Given the description of an element on the screen output the (x, y) to click on. 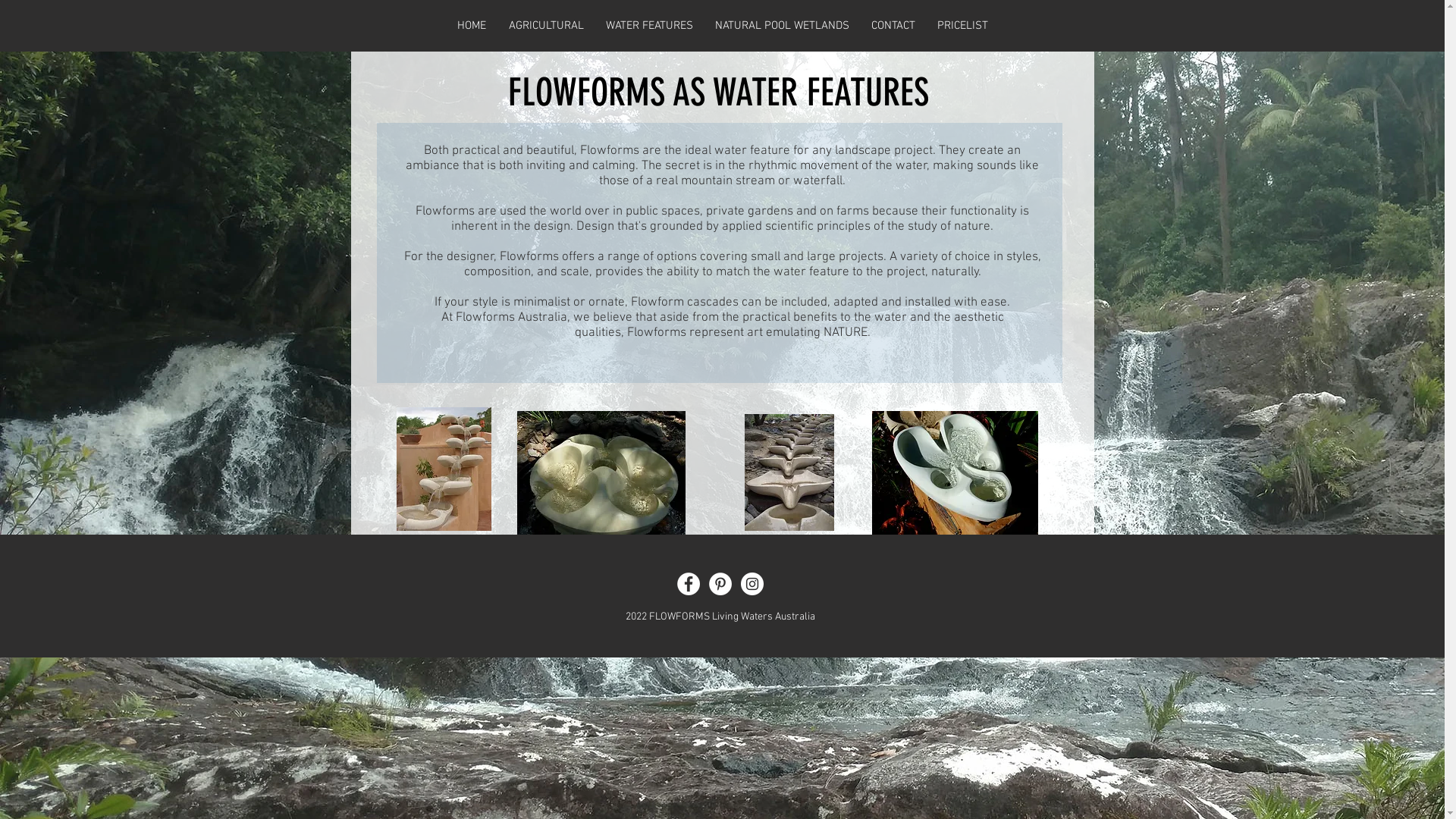
PRICELIST Element type: text (962, 25)
CONTACT Element type: text (892, 25)
HOME Element type: text (471, 25)
AGRICULTURAL Element type: text (546, 25)
NATURAL POOL WETLANDS Element type: text (781, 25)
WATER FEATURES Element type: text (648, 25)
